Given the description of an element on the screen output the (x, y) to click on. 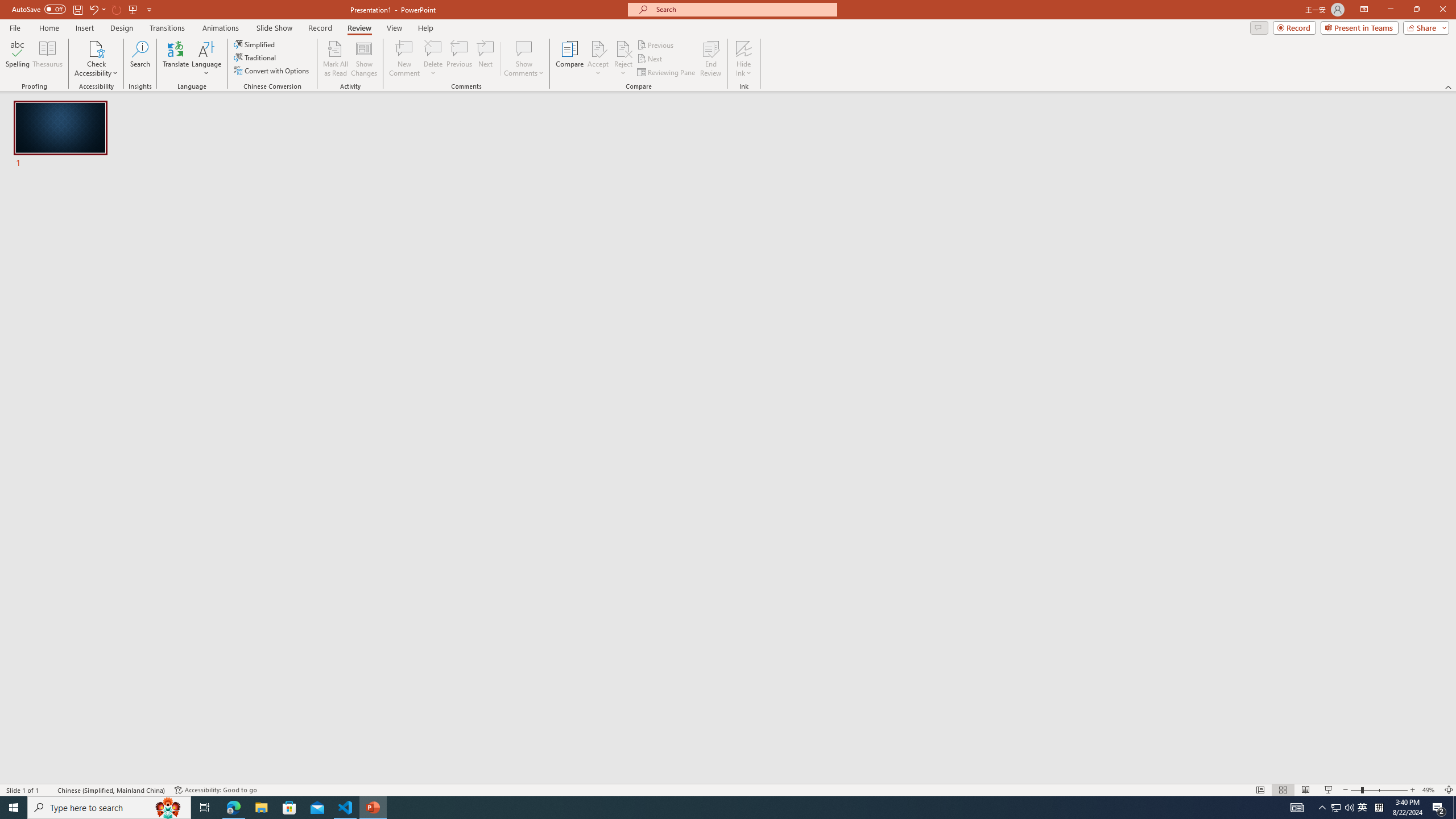
Check Accessibility (95, 58)
Reject Change (622, 48)
Accessibility Checker Accessibility: Good to go (216, 790)
Delete (432, 48)
Hide Ink (743, 58)
Spell Check  (49, 790)
